Given the description of an element on the screen output the (x, y) to click on. 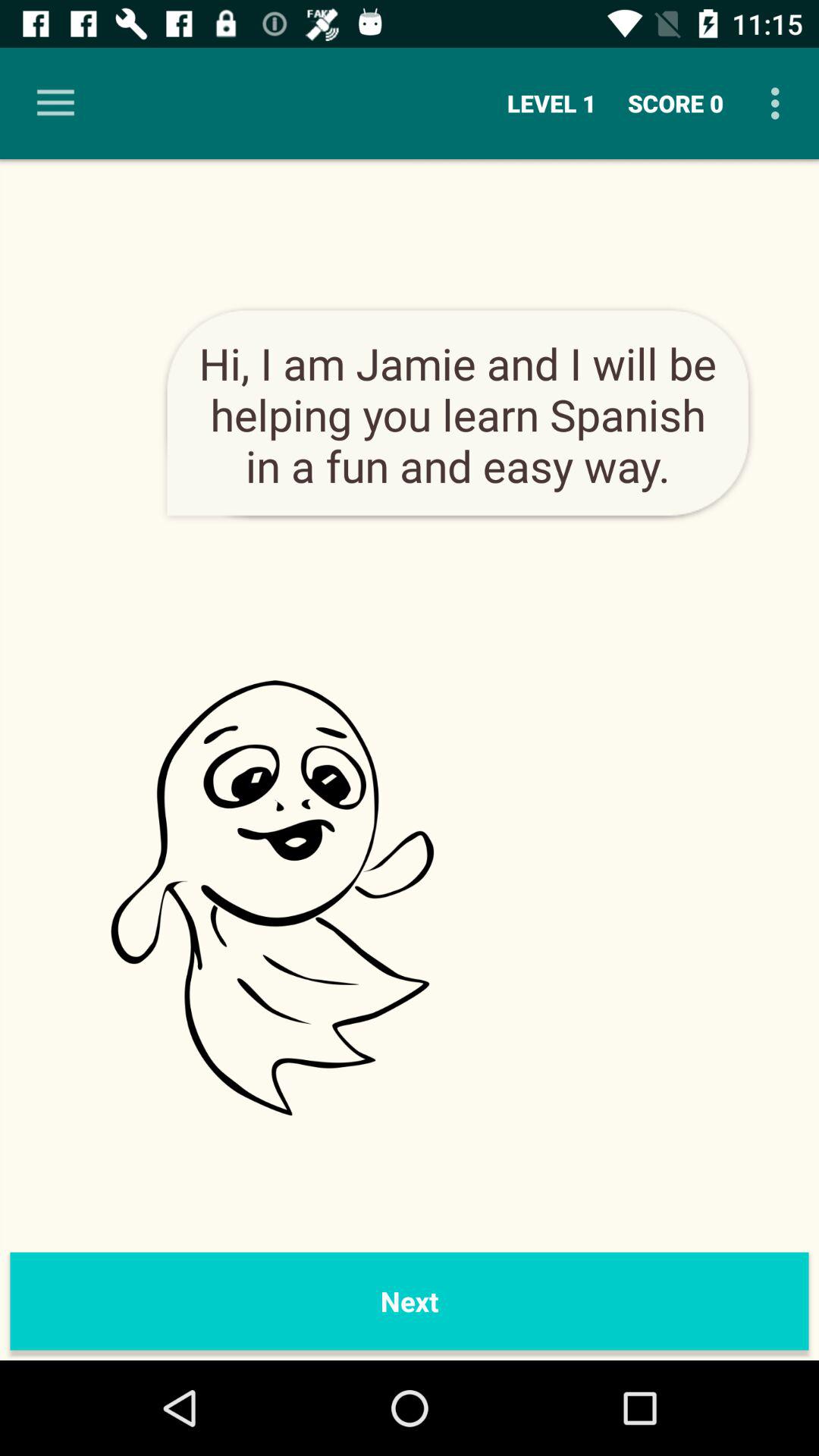
launch the icon next to the score 0 icon (779, 103)
